Given the description of an element on the screen output the (x, y) to click on. 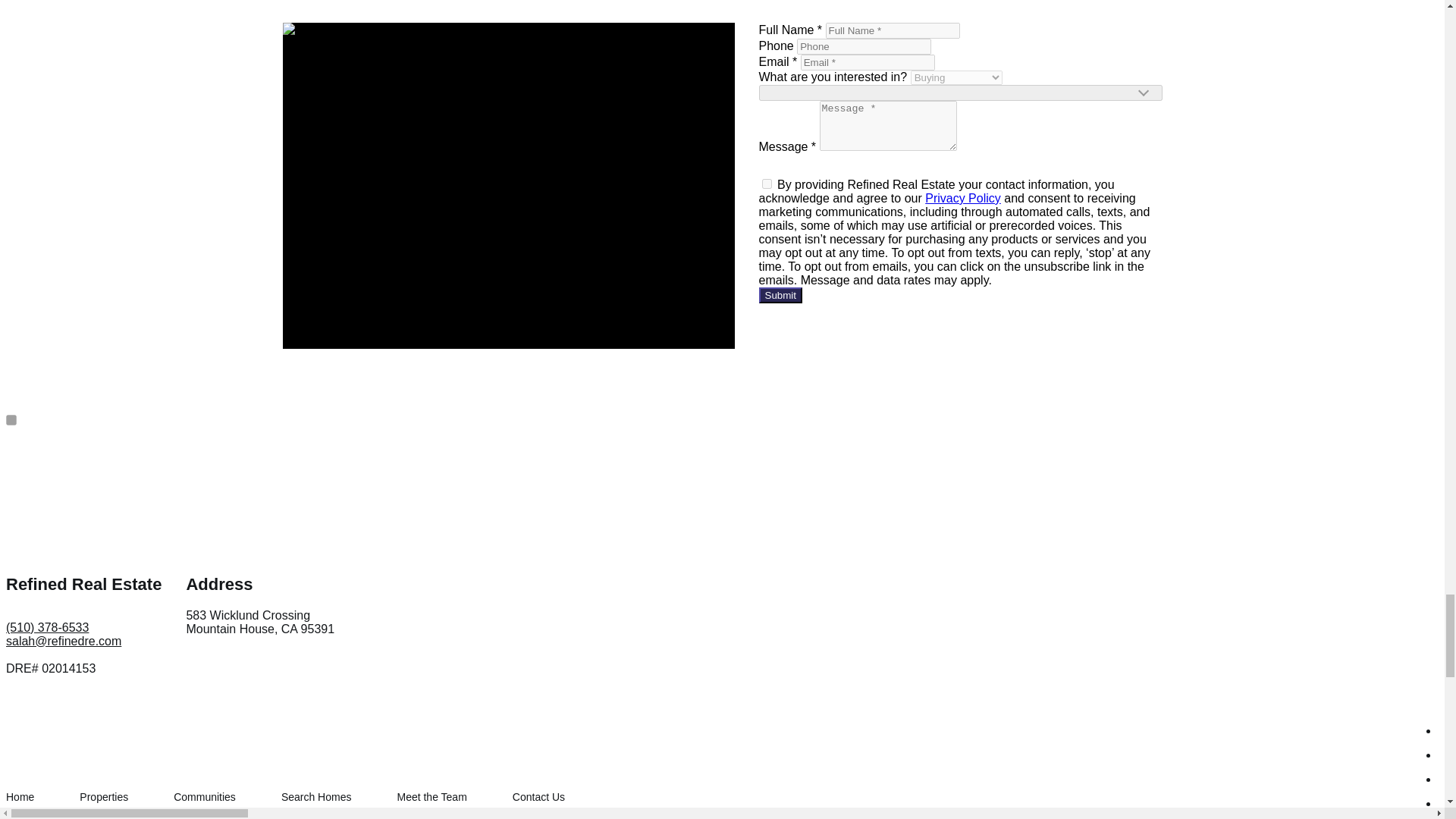
on (766, 184)
